Given the description of an element on the screen output the (x, y) to click on. 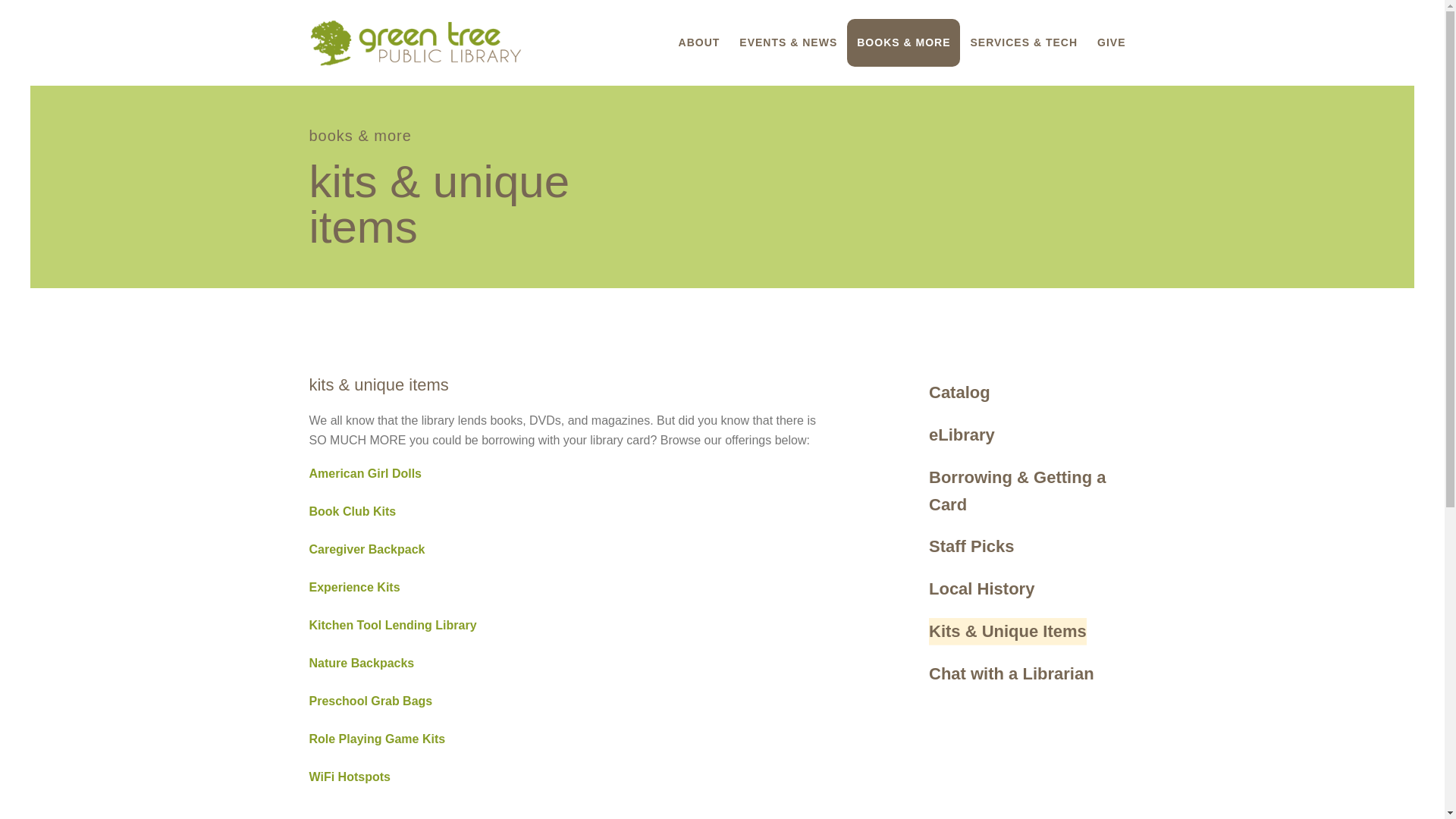
Experience Kits (354, 586)
American Girl Dolls (365, 472)
GIVE (1111, 42)
ABOUT (699, 42)
Caregiver Backpack (366, 549)
logo (414, 42)
Book Club Kits (352, 511)
